Given the description of an element on the screen output the (x, y) to click on. 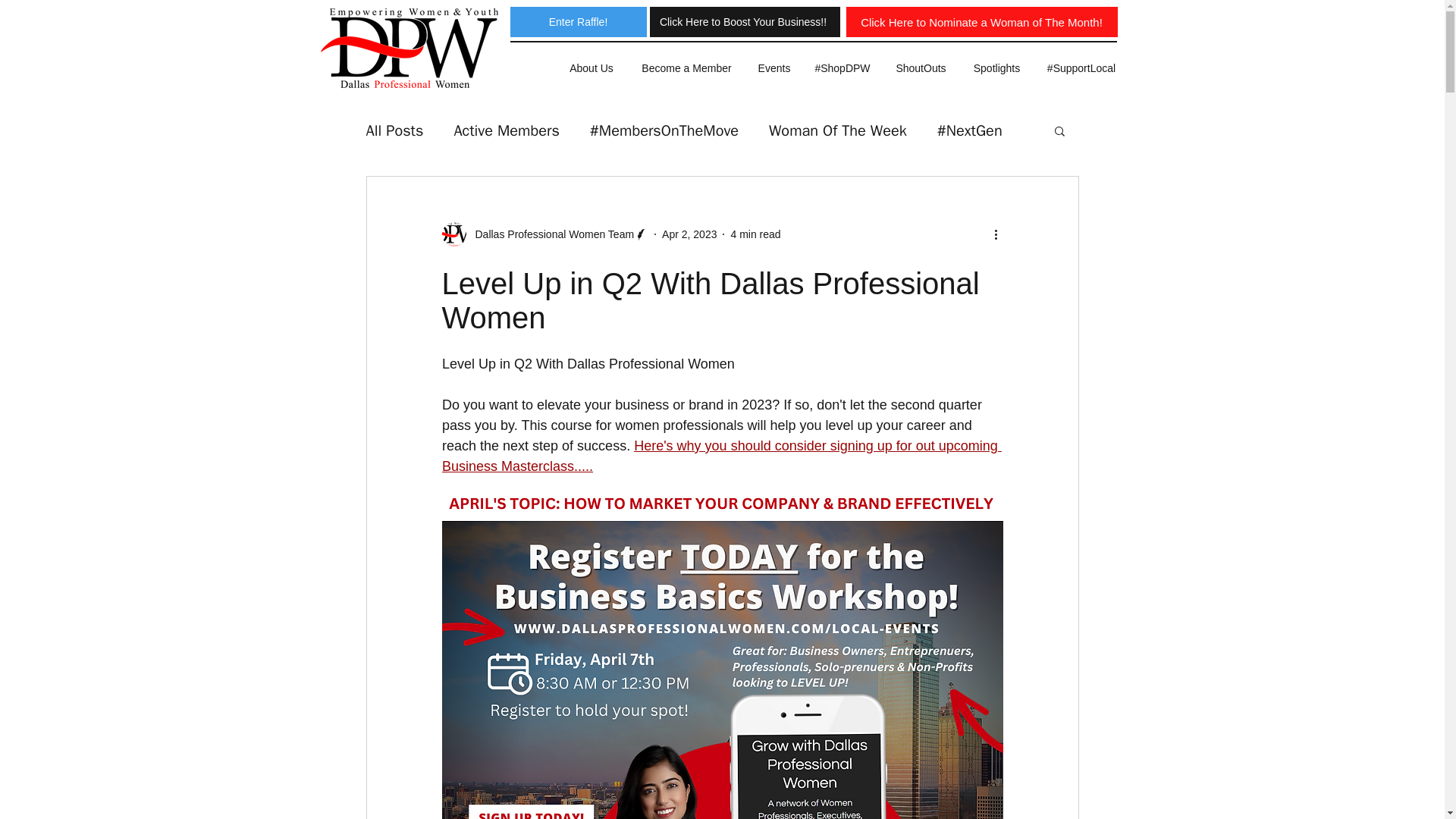
4 min read (755, 233)
Apr 2, 2023 (689, 233)
Click Here to Boost Your Business!! (742, 21)
Dallas Professional Women Team (549, 233)
Woman Of The Week (837, 129)
About Us (590, 68)
Events (774, 68)
All Posts (394, 129)
Active Members (505, 129)
Click Here to Nominate a Woman of The Month! (981, 21)
Enter Raffle! (577, 21)
Click Here to Boost Your Business!! (746, 21)
Become a Member (686, 68)
Dallas Professional Women Team (544, 233)
